Given the description of an element on the screen output the (x, y) to click on. 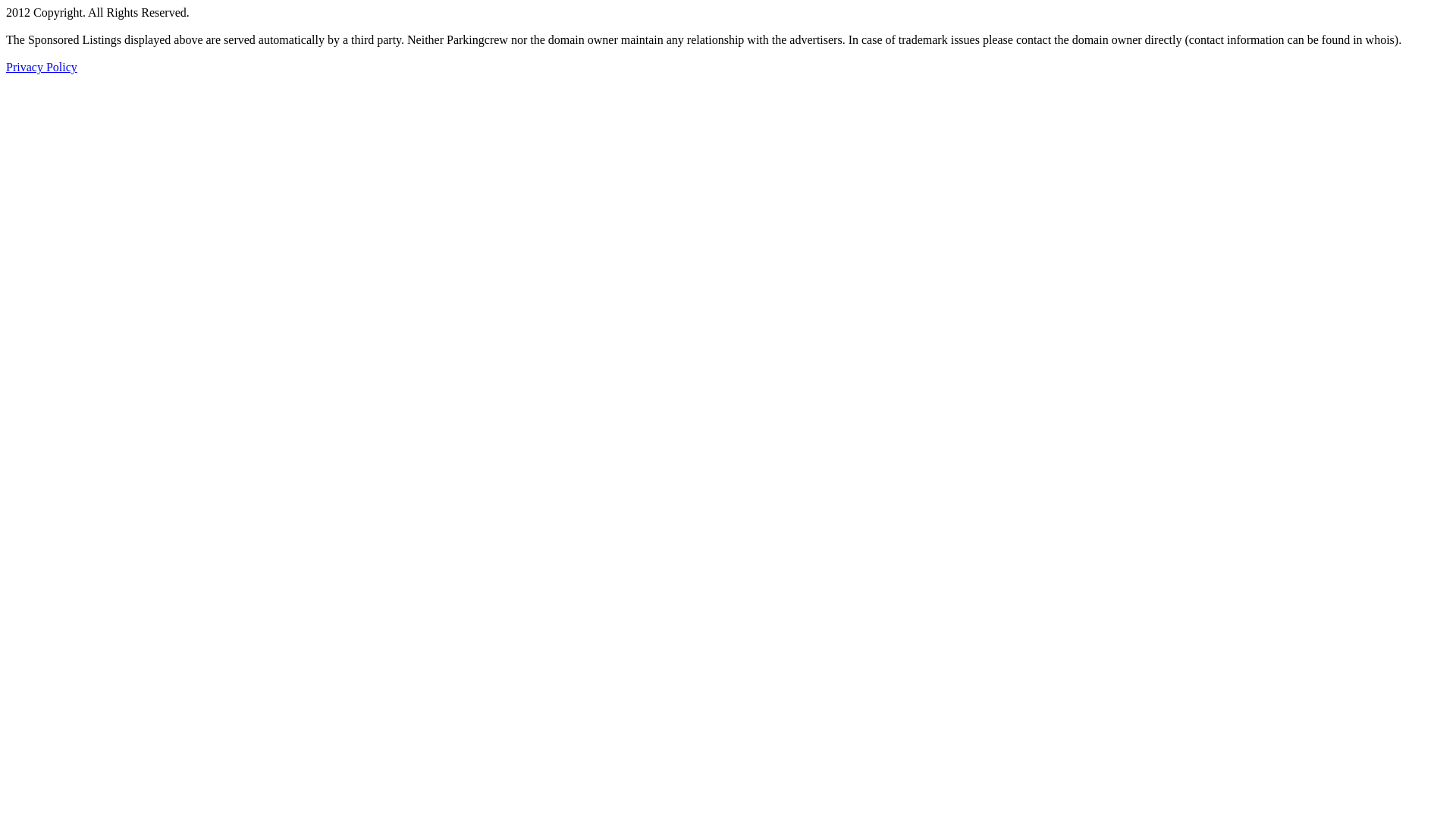
Privacy Policy Element type: text (41, 66)
